Given the description of an element on the screen output the (x, y) to click on. 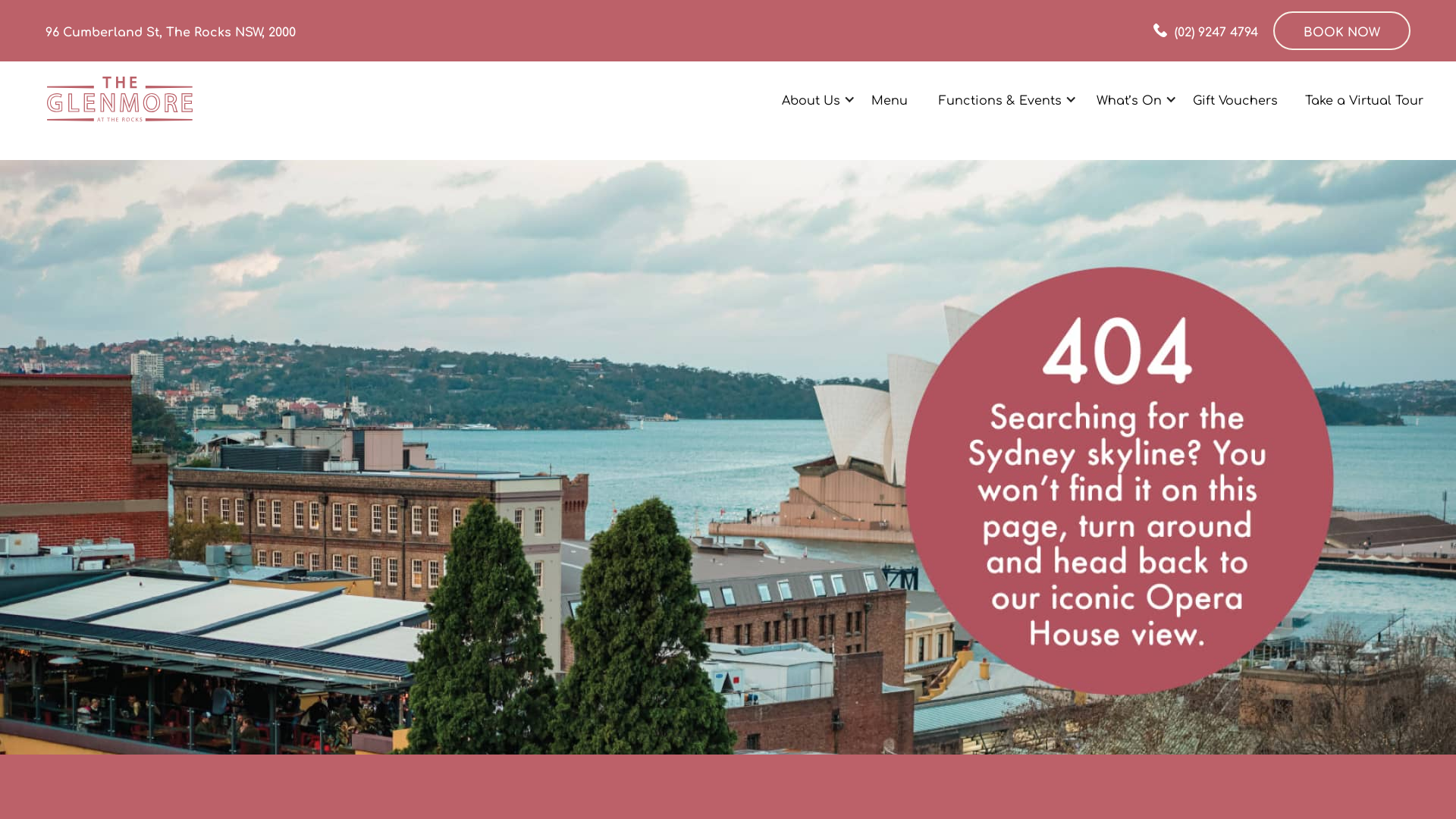
(02) 9247 4794 Element type: text (1205, 30)
Functions & Events Element type: text (999, 98)
Menu Element type: text (889, 99)
Take a Virtual Tour Element type: text (1363, 99)
About Us Element type: text (810, 98)
Gift Vouchers Element type: text (1235, 99)
BOOK NOW Element type: text (1341, 30)
